Given the description of an element on the screen output the (x, y) to click on. 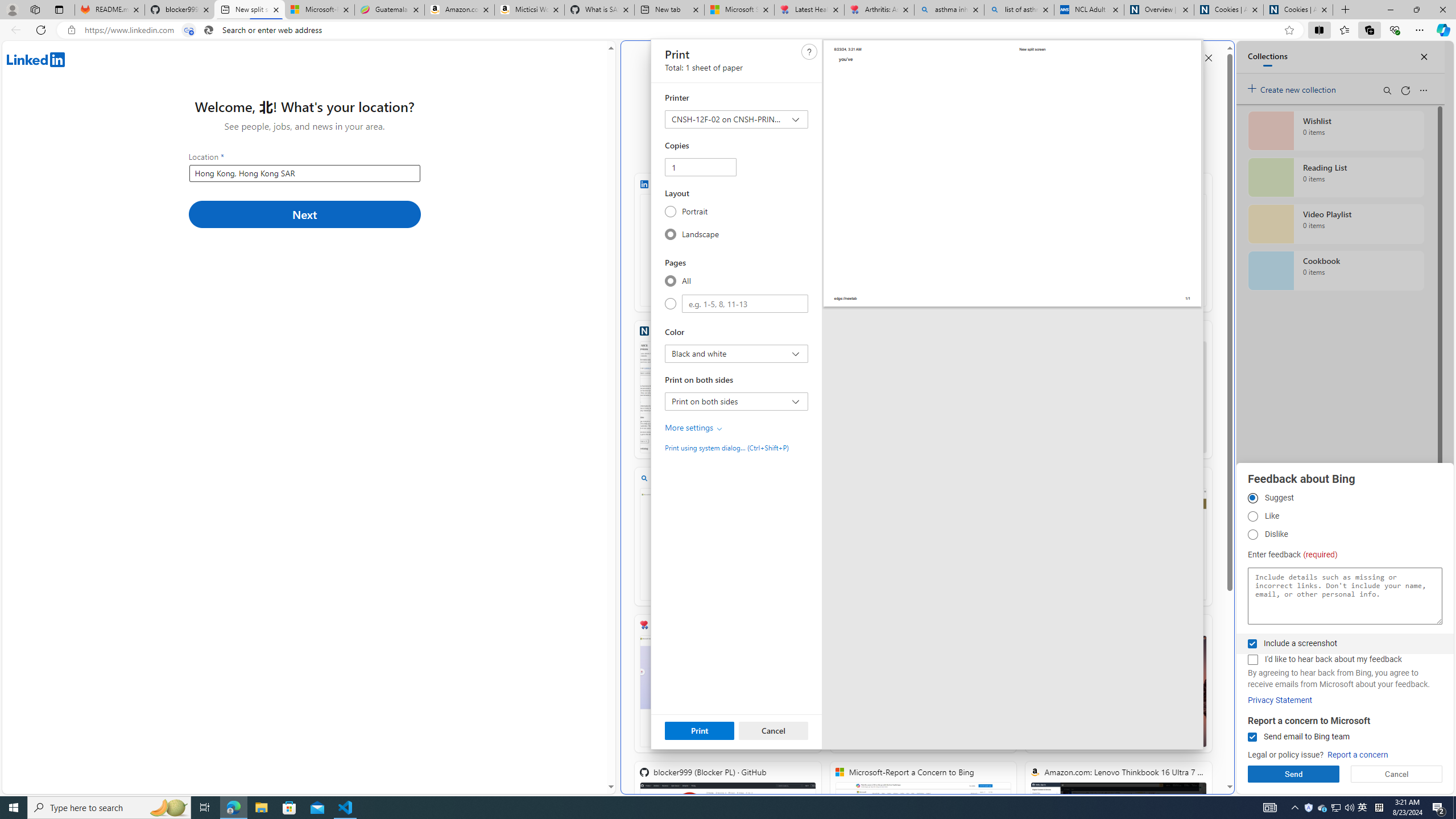
Print (699, 730)
Cancel (773, 730)
Class: c0183 (718, 428)
More settings (694, 427)
Print on both sides Print on both sides (736, 401)
Custom (744, 303)
Class: c0129 (809, 51)
Custom (670, 303)
Copies (700, 167)
Need help (808, 51)
Color Black and white (736, 353)
Portrait (670, 211)
All (670, 280)
Printer CNSH-12F-02 on CNSH-PRINT-01 (736, 119)
